Given the description of an element on the screen output the (x, y) to click on. 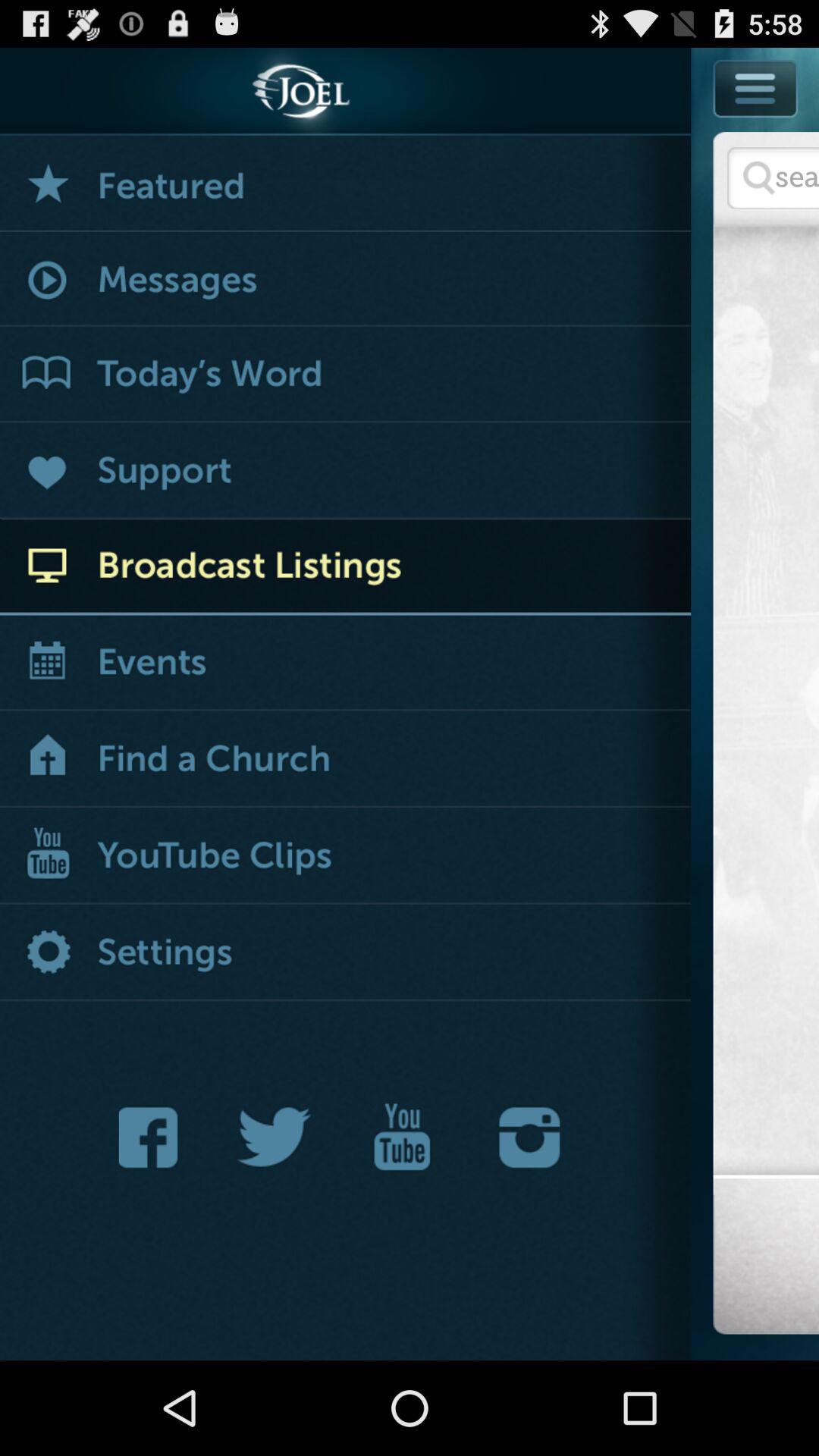
view facebook (152, 1137)
